Given the description of an element on the screen output the (x, y) to click on. 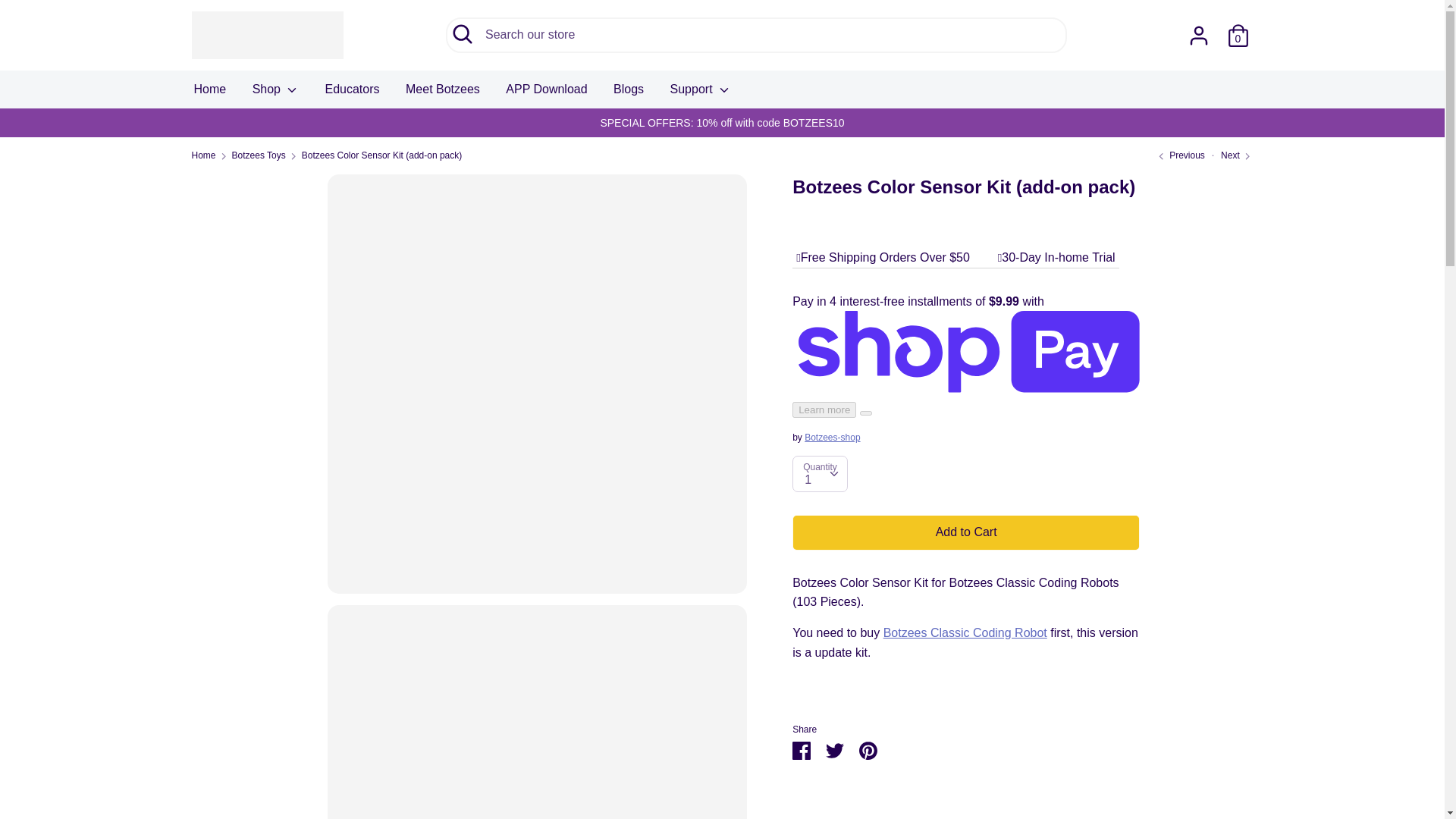
Botzees Coding Robotics - Botzees Mini (1180, 154)
0 (1237, 29)
Botzees robotics-Botzees classic (964, 632)
Botzees RC - Police Car (1236, 154)
